Given the description of an element on the screen output the (x, y) to click on. 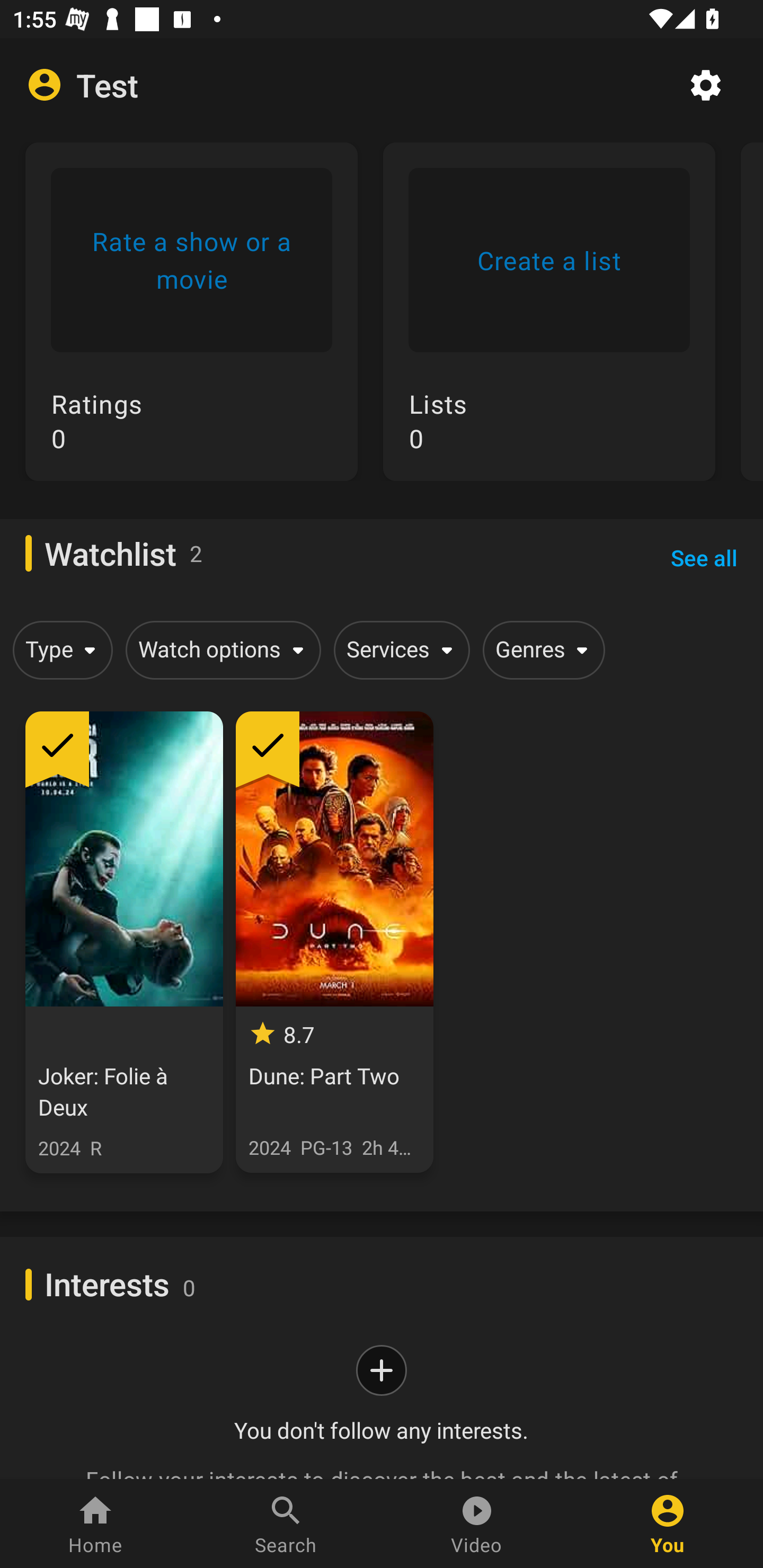
Rate a show or a movie Ratings 0 (191, 324)
Create a list Lists 0 (548, 324)
See all See all Watchlist (703, 557)
Type (59, 649)
Watch options (219, 649)
Services (398, 649)
Genres (540, 649)
Joker: Folie à Deux 2024  R   (123, 941)
8.7 Dune: Part Two 2024  PG-13  2h 46m (334, 941)
Home (95, 1523)
Search (285, 1523)
Video (476, 1523)
